Given the description of an element on the screen output the (x, y) to click on. 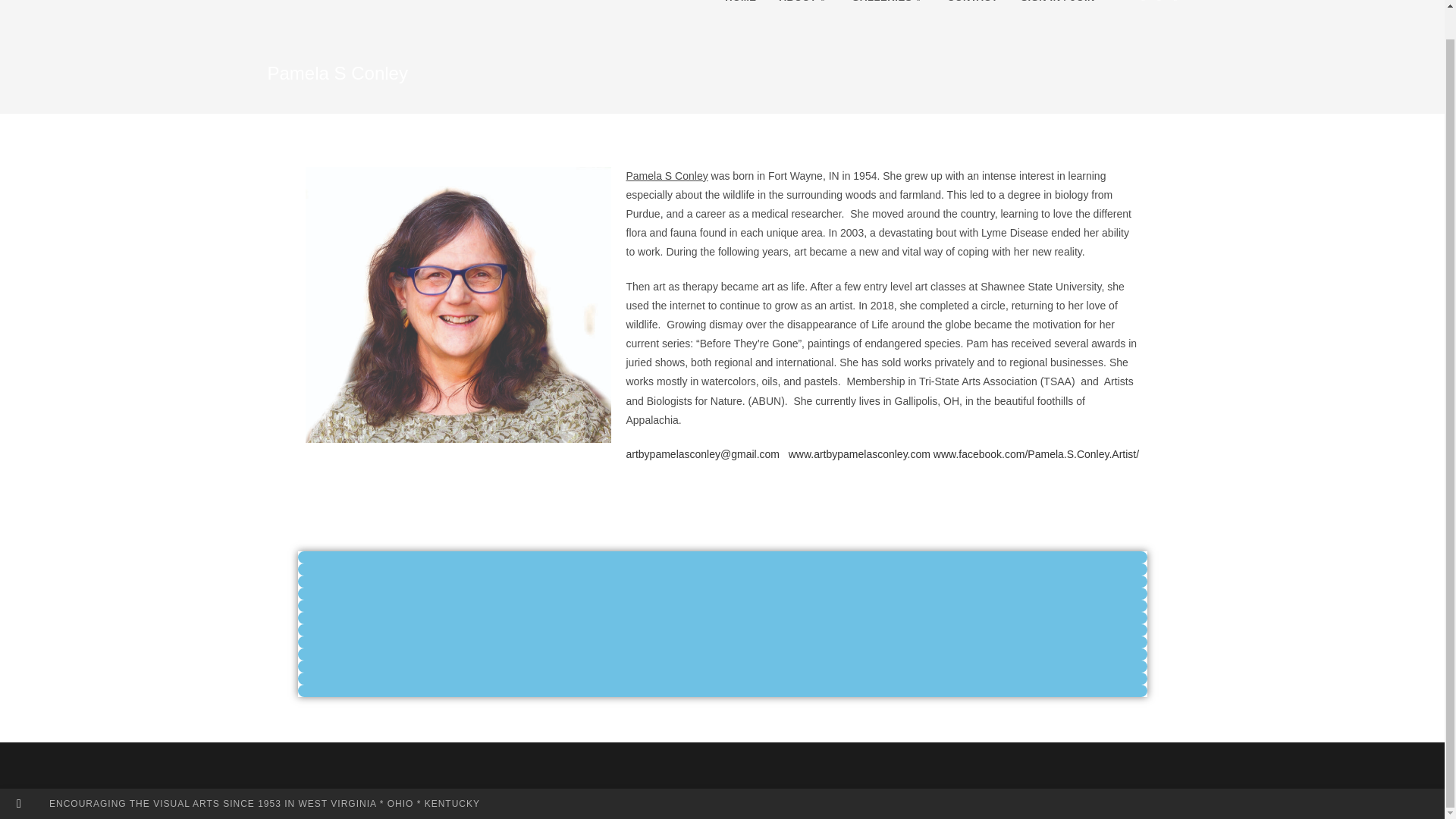
GALLERIES (888, 12)
www.artbypamelasconley.com (859, 453)
ABOUT (804, 12)
CONTACT (972, 12)
HOME (740, 12)
